Given the description of an element on the screen output the (x, y) to click on. 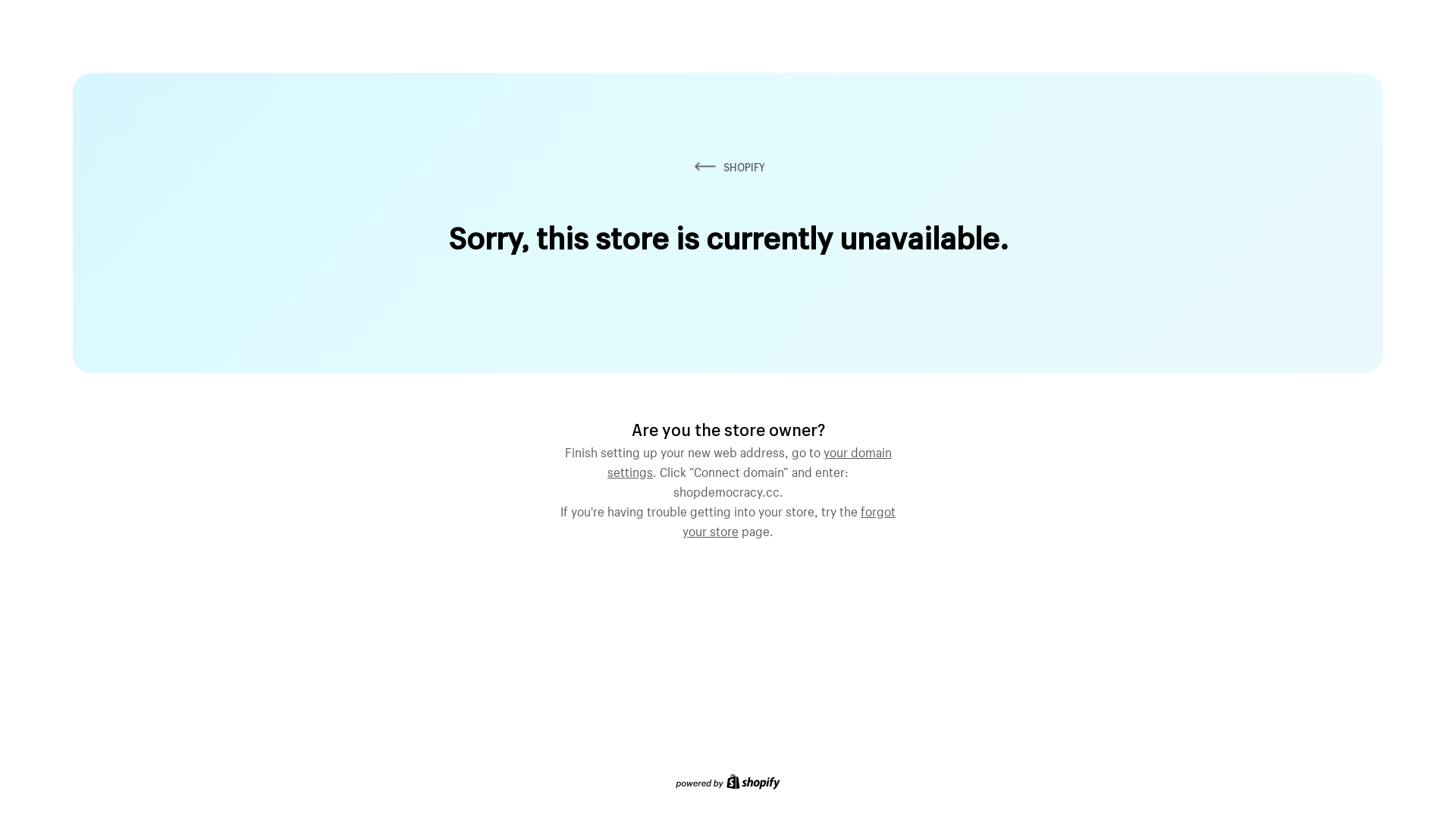
your domain settings Element type: text (749, 460)
SHOPIFY Element type: text (727, 167)
forgot your store Element type: text (788, 519)
